Given the description of an element on the screen output the (x, y) to click on. 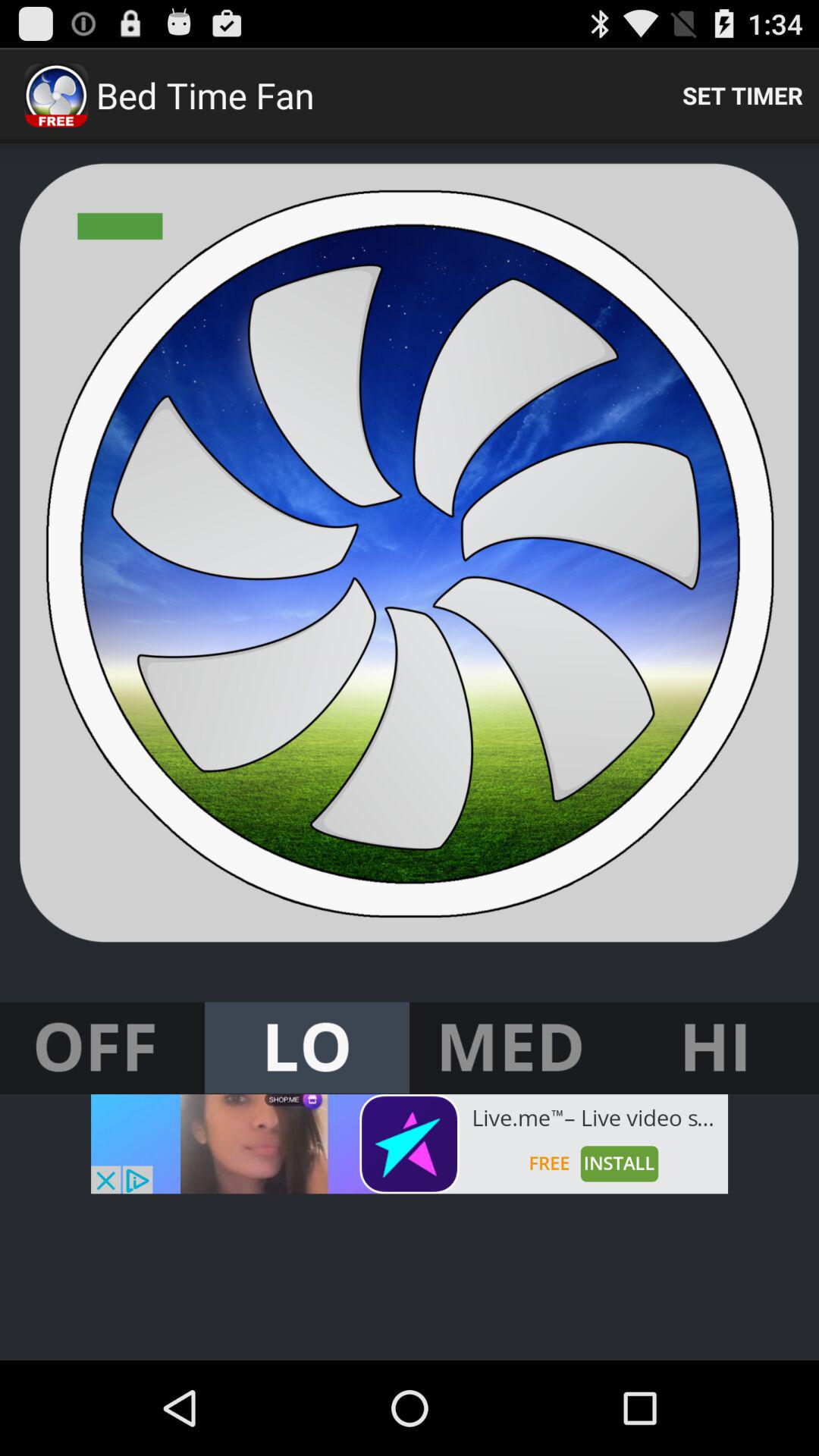
set fan speed to low (306, 1048)
